Given the description of an element on the screen output the (x, y) to click on. 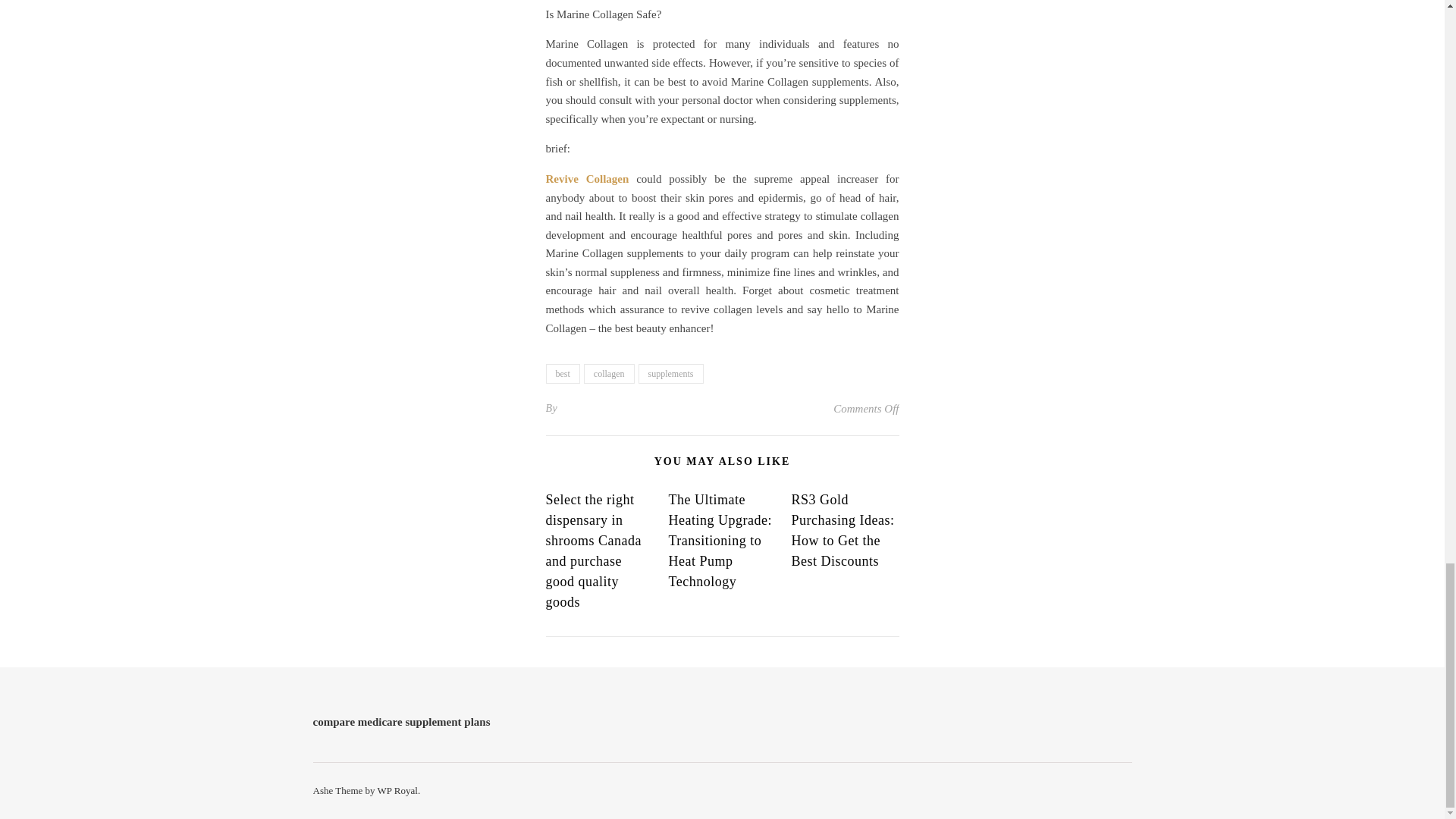
Revive Collagen (587, 178)
best (562, 373)
collagen (608, 373)
RS3 Gold Purchasing Ideas: How to Get the Best Discounts (841, 530)
supplements (671, 373)
